Given the description of an element on the screen output the (x, y) to click on. 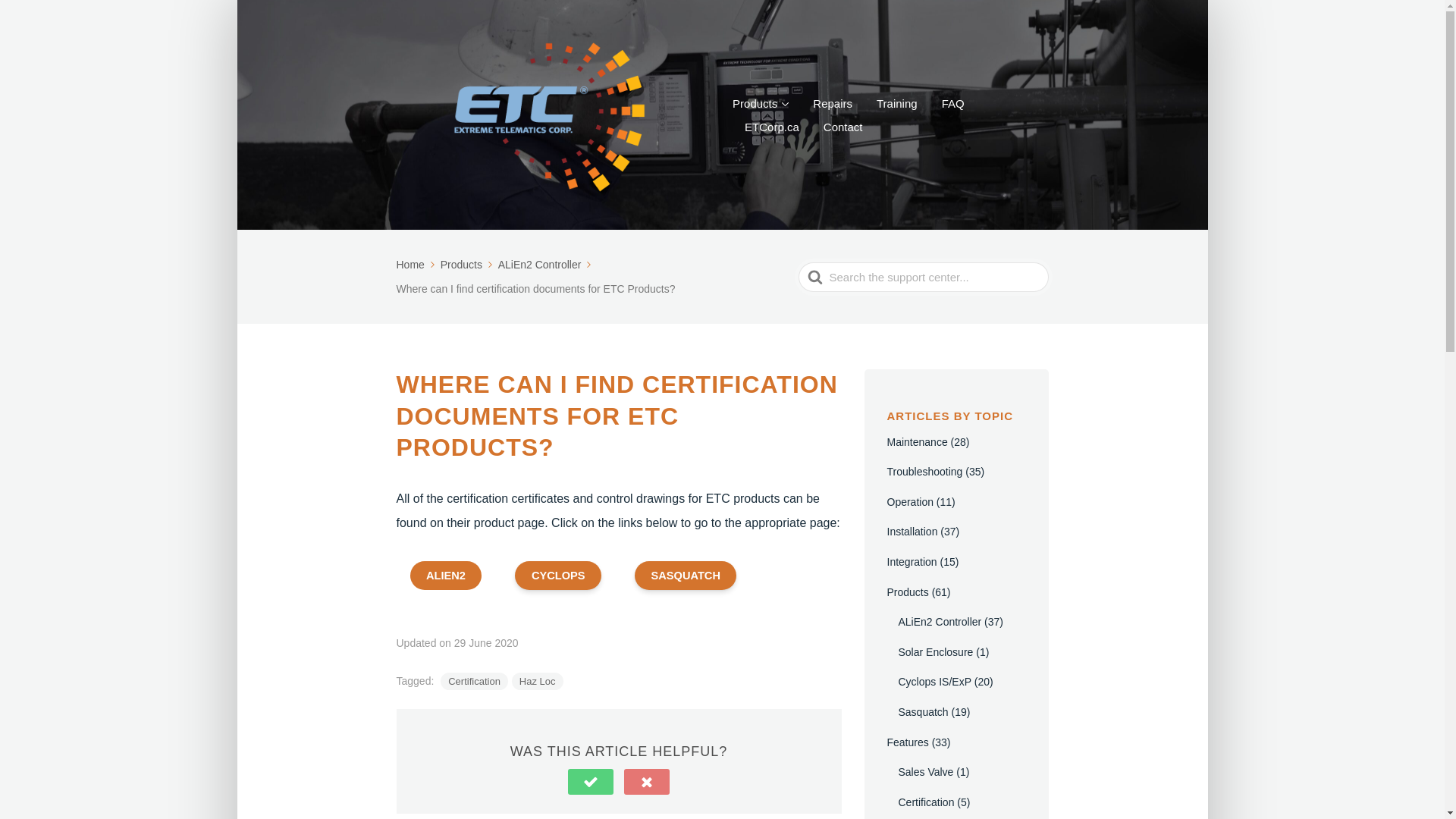
FAQ (953, 103)
Home (416, 264)
CYCLOPS (558, 575)
Training (896, 103)
Products (468, 264)
Certification (474, 681)
ALiEn2 Controller (545, 264)
ALIEN2 (445, 575)
SASQUATCH (685, 575)
Haz Loc (537, 681)
